Given the description of an element on the screen output the (x, y) to click on. 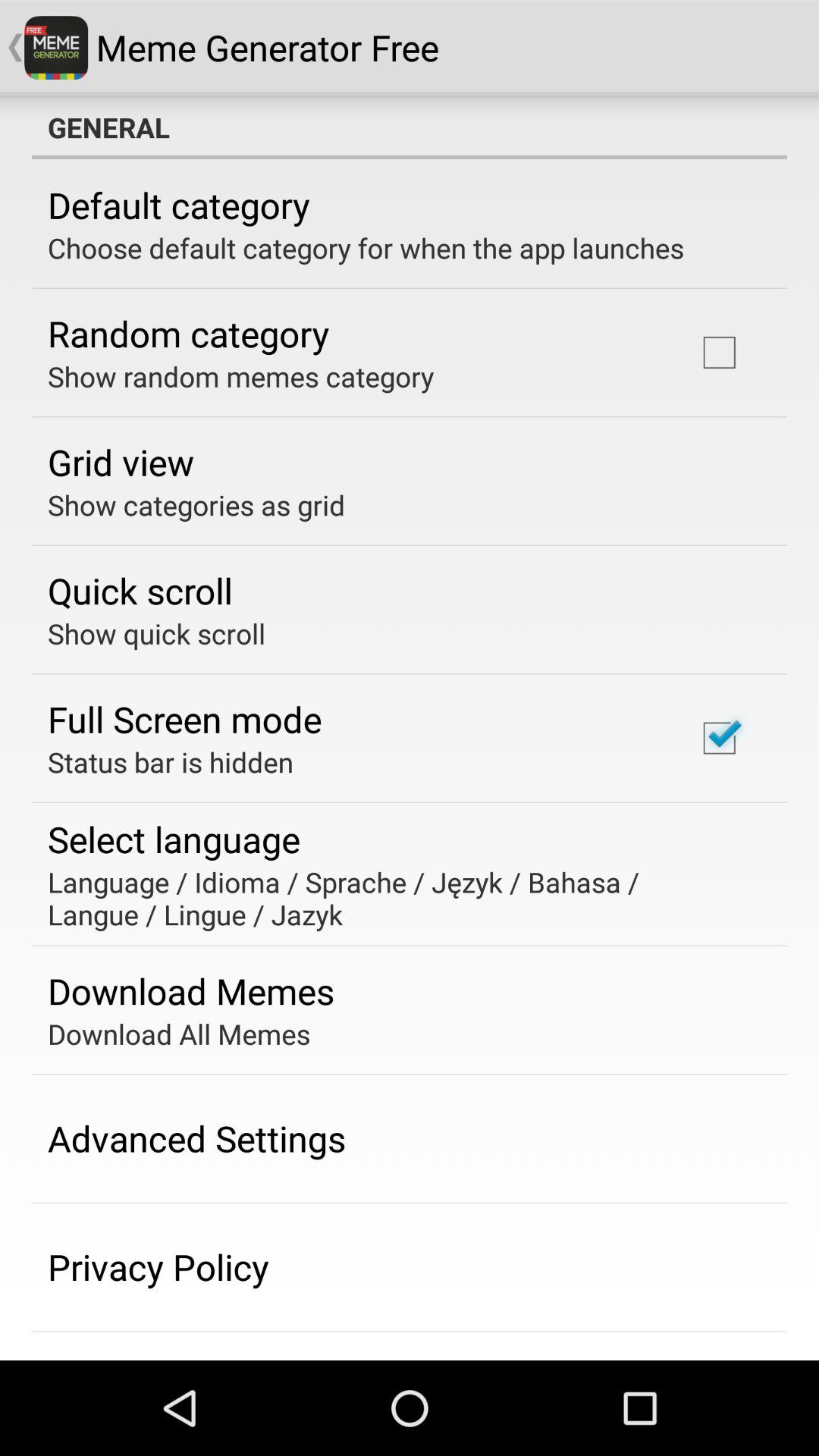
jump to the show random memes app (240, 376)
